Given the description of an element on the screen output the (x, y) to click on. 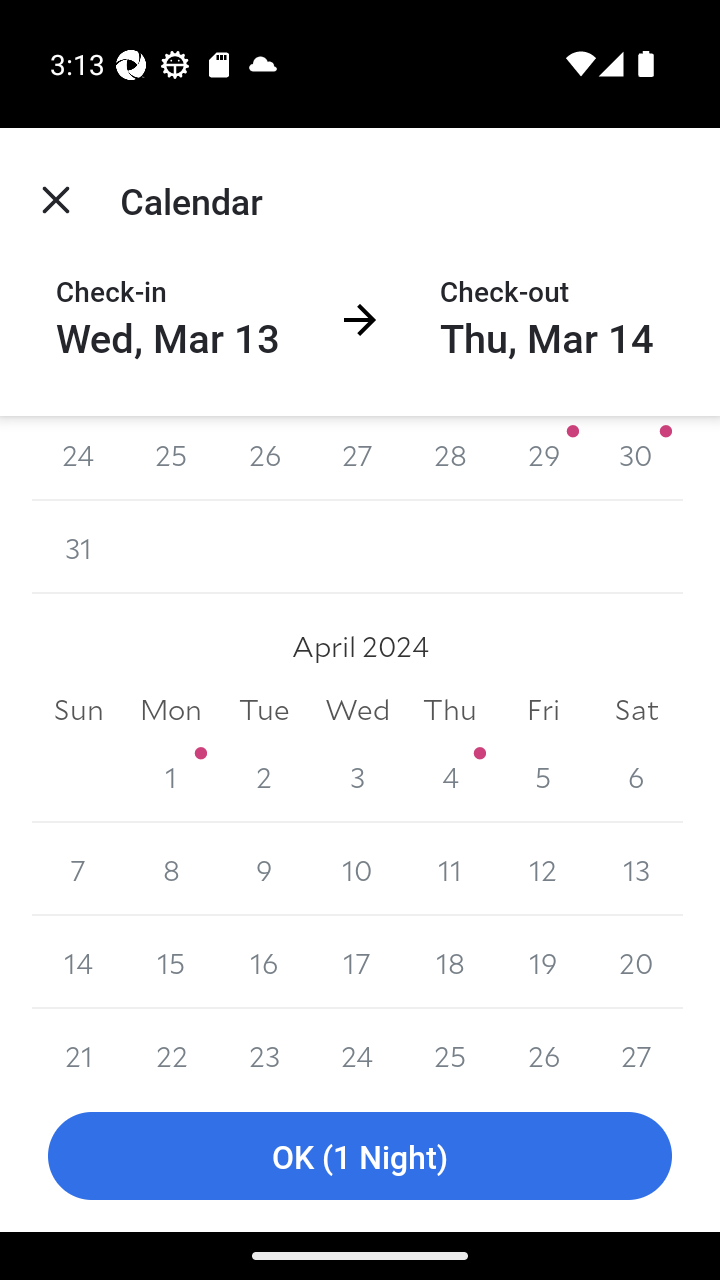
24 24 March 2024 (78, 458)
25 25 March 2024 (171, 458)
26 26 March 2024 (264, 458)
27 27 March 2024 (357, 458)
28 28 March 2024 (449, 458)
29 29 March 2024 (542, 458)
30 30 March 2024 (636, 458)
31 31 March 2024 (78, 546)
Sun (78, 708)
Mon (171, 708)
Tue (264, 708)
Wed (357, 708)
Thu (449, 708)
Fri (542, 708)
Sat (636, 708)
1 1 April 2024 (171, 776)
2 2 April 2024 (264, 776)
3 3 April 2024 (357, 776)
4 4 April 2024 (449, 776)
5 5 April 2024 (542, 776)
6 6 April 2024 (636, 776)
7 7 April 2024 (78, 869)
8 8 April 2024 (171, 869)
9 9 April 2024 (264, 869)
10 10 April 2024 (357, 869)
11 11 April 2024 (449, 869)
12 12 April 2024 (542, 869)
13 13 April 2024 (636, 869)
14 14 April 2024 (78, 962)
15 15 April 2024 (171, 962)
16 16 April 2024 (264, 962)
17 17 April 2024 (357, 962)
18 18 April 2024 (449, 962)
19 19 April 2024 (542, 962)
20 20 April 2024 (636, 962)
21 21 April 2024 (78, 1044)
22 22 April 2024 (171, 1044)
23 23 April 2024 (264, 1044)
24 24 April 2024 (357, 1044)
25 25 April 2024 (449, 1044)
26 26 April 2024 (542, 1044)
27 27 April 2024 (636, 1044)
OK (1 Night) (359, 1156)
